Given the description of an element on the screen output the (x, y) to click on. 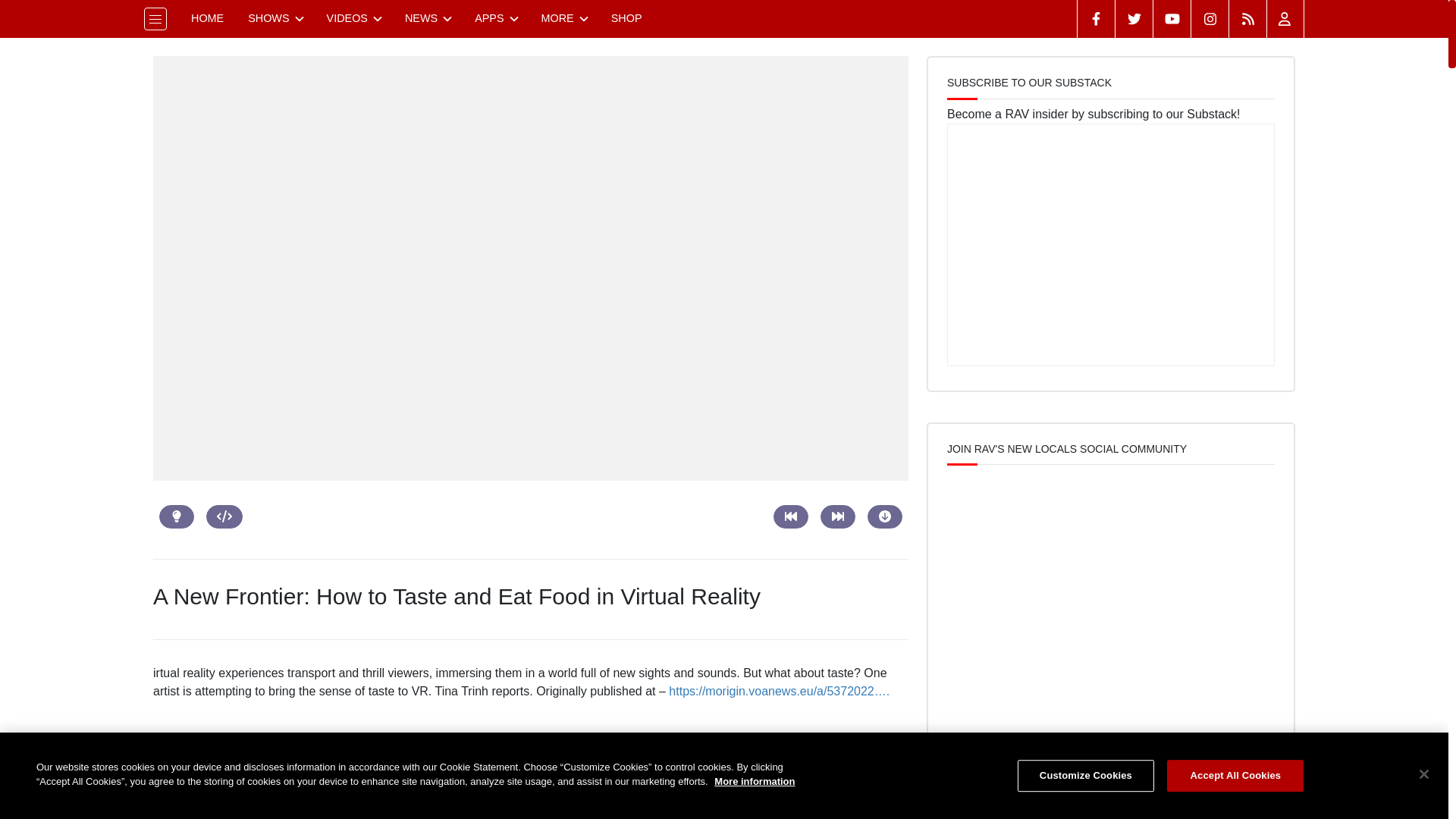
SHOWS (274, 18)
HOME (207, 18)
